Given the description of an element on the screen output the (x, y) to click on. 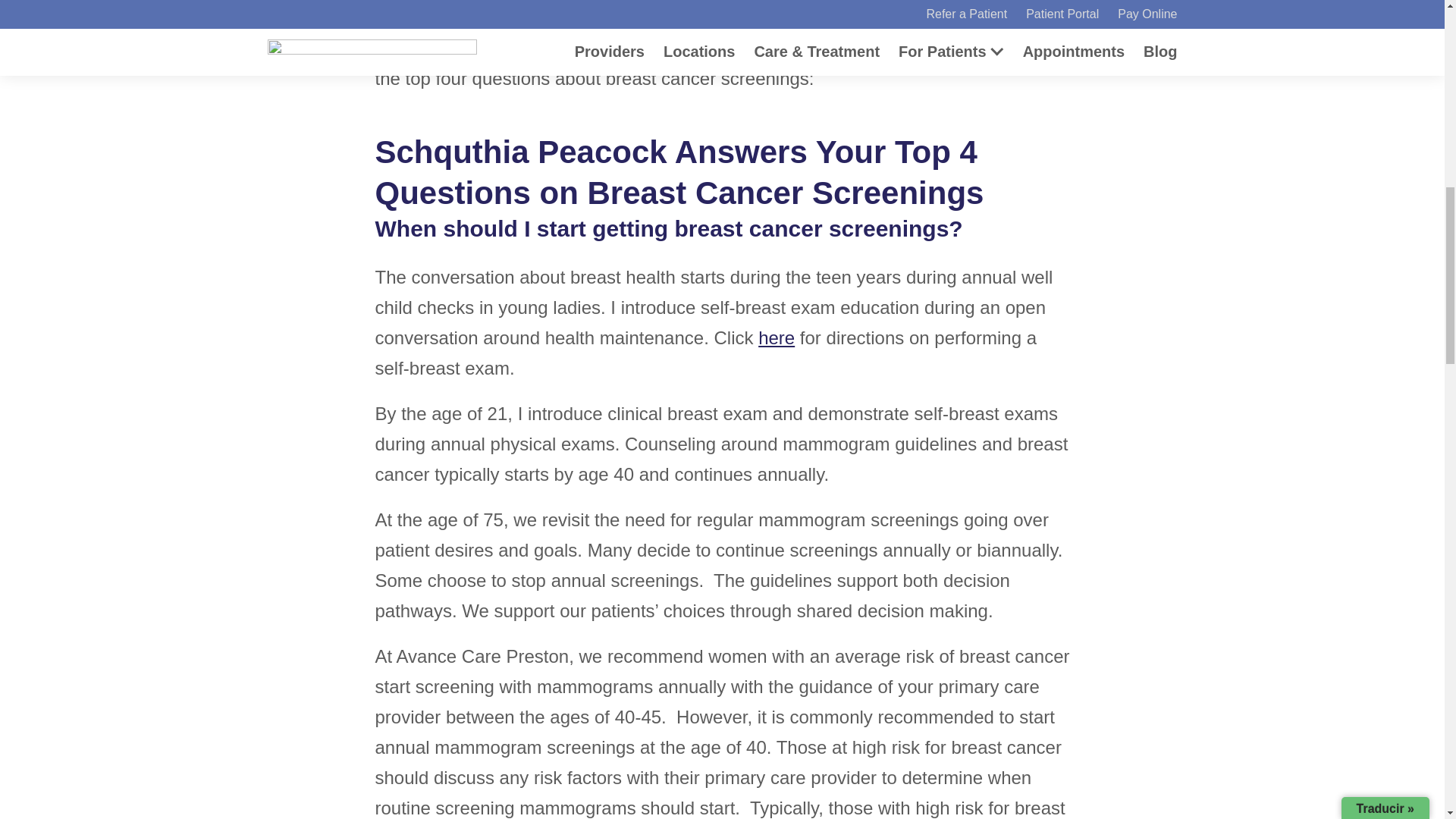
here (776, 337)
